Given the description of an element on the screen output the (x, y) to click on. 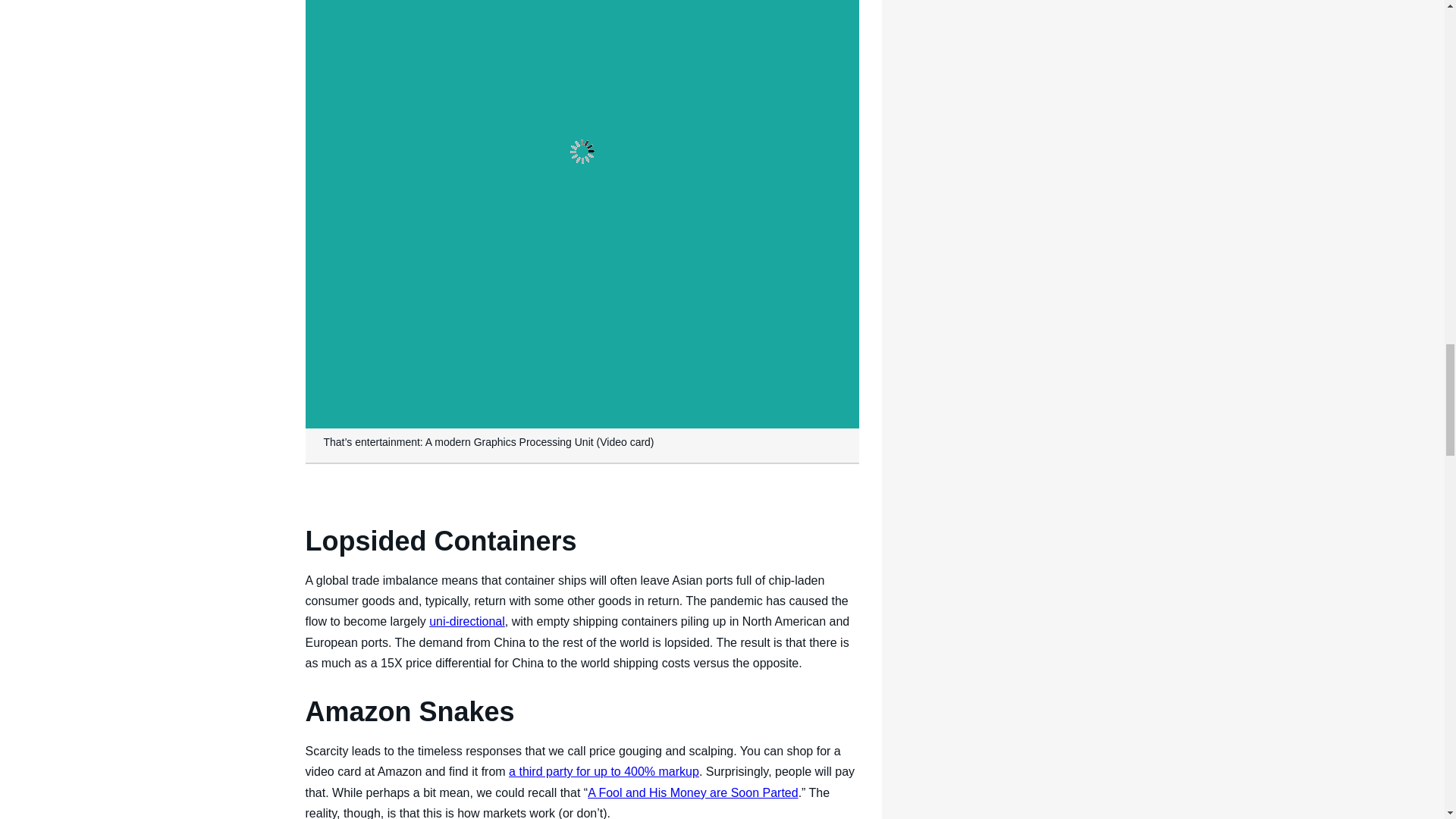
uni-directional (467, 621)
A Fool and His Money are Soon Parted (692, 792)
